Given the description of an element on the screen output the (x, y) to click on. 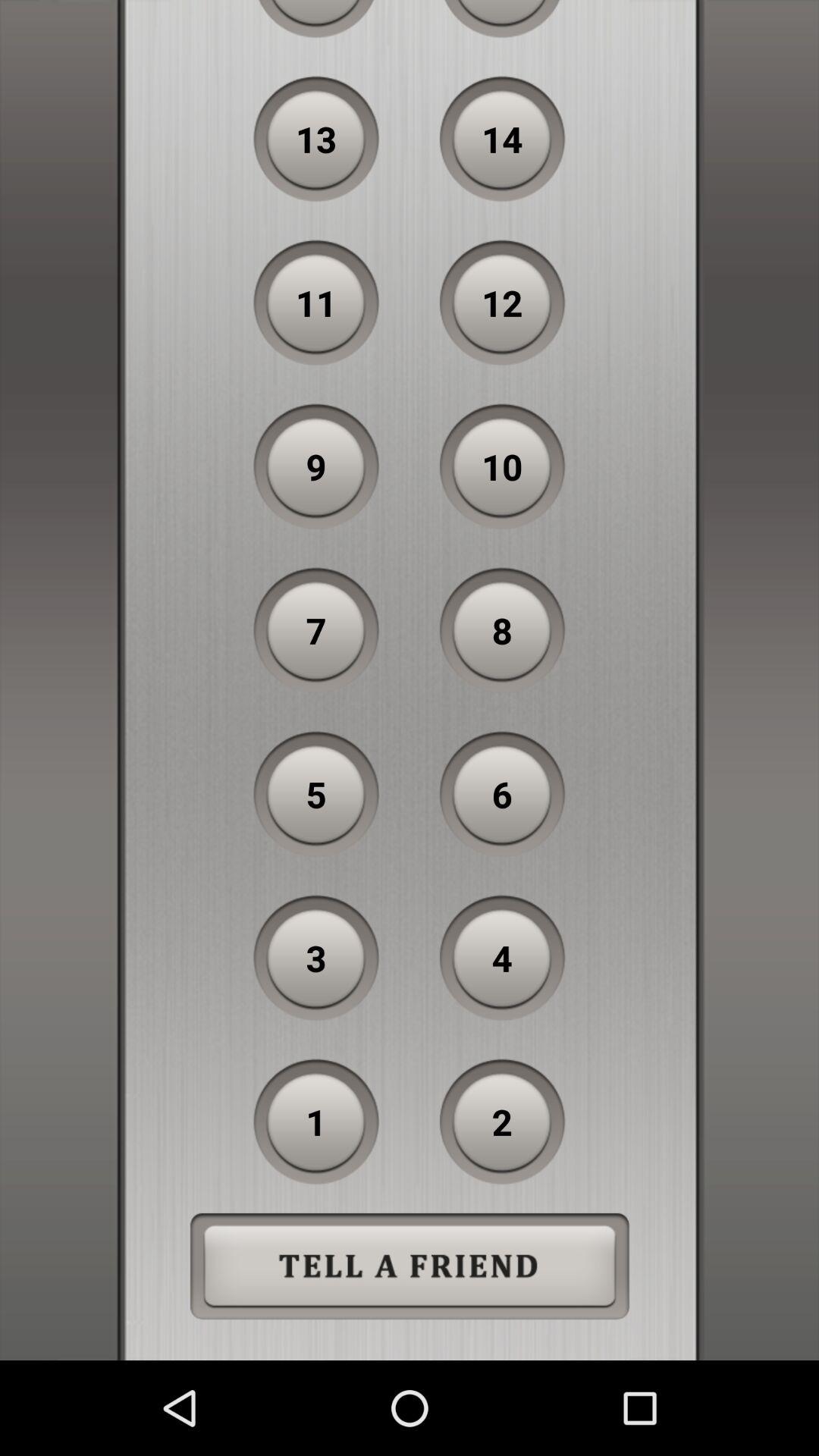
turn off 3 (316, 957)
